Given the description of an element on the screen output the (x, y) to click on. 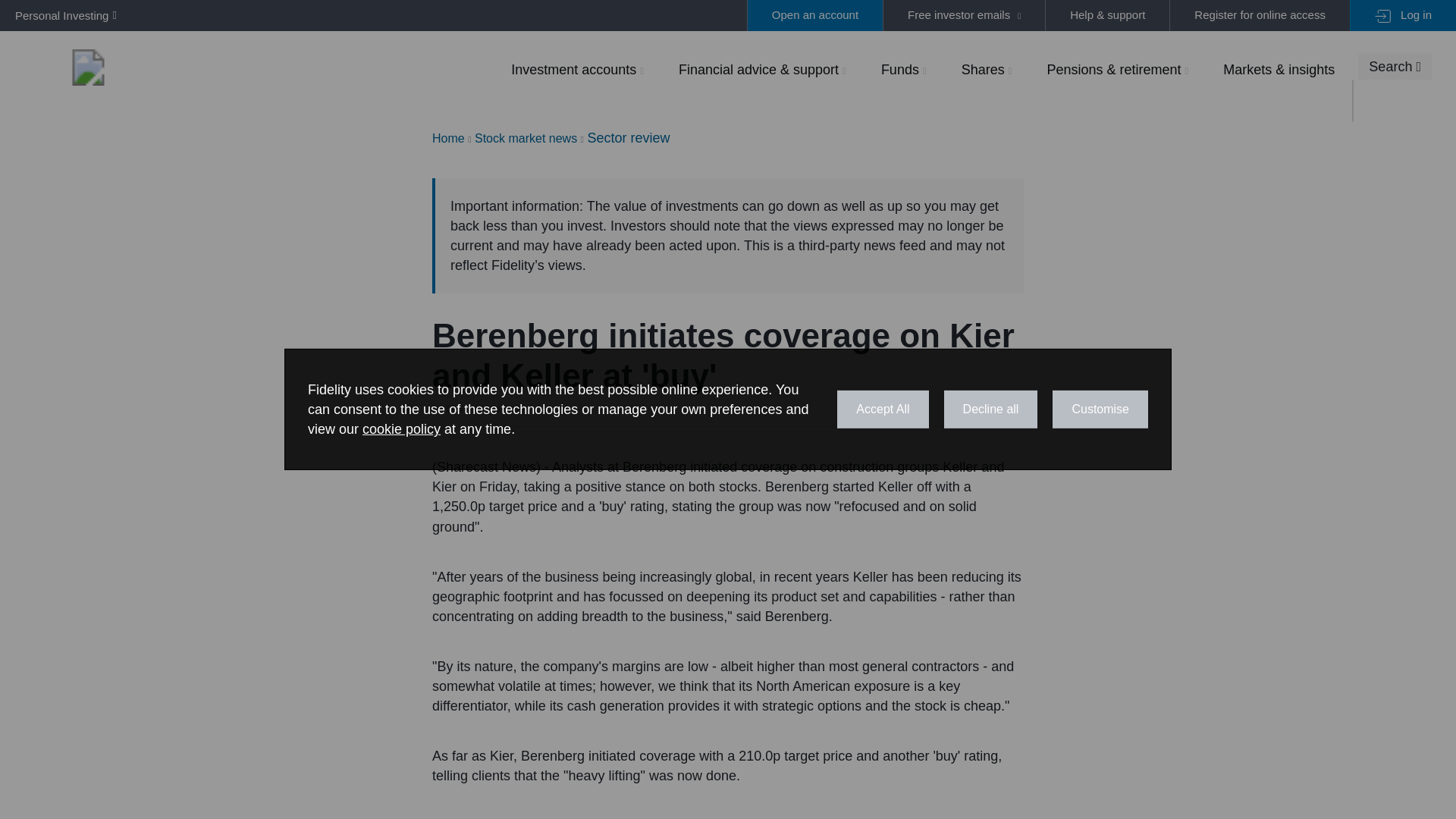
Investment accounts (576, 69)
Personal Investing (61, 15)
Fidelity International Logo (88, 67)
Open an account (814, 15)
Free investor emails (963, 15)
Fidelity International Logo (88, 67)
Register for online access (1259, 15)
